Given the description of an element on the screen output the (x, y) to click on. 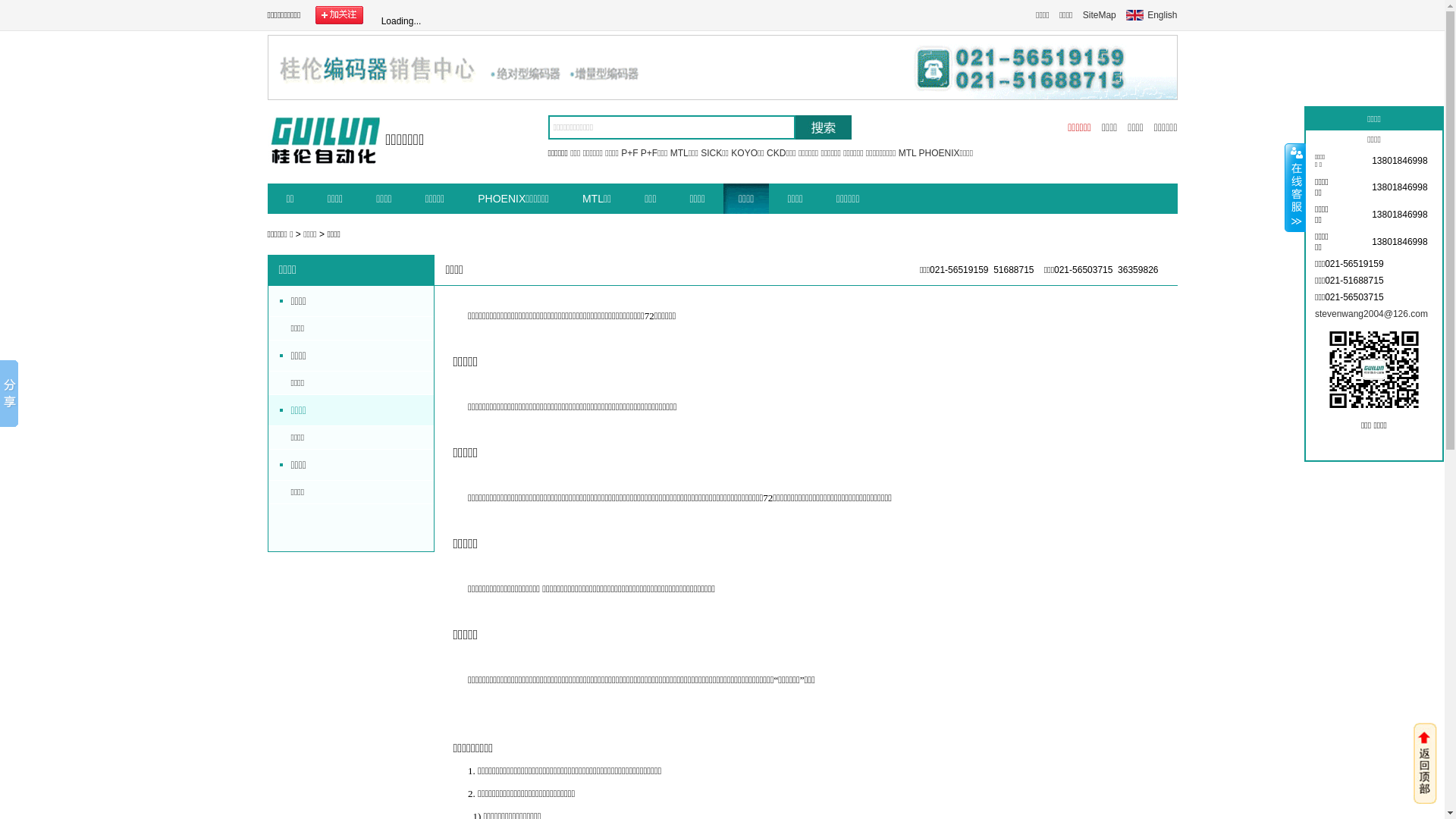
stevenwang2004@126.com Element type: text (1370, 313)
English Element type: text (1151, 14)
SiteMap Element type: text (1099, 14)
MTL Element type: text (907, 152)
P+F Element type: text (629, 152)
